Given the description of an element on the screen output the (x, y) to click on. 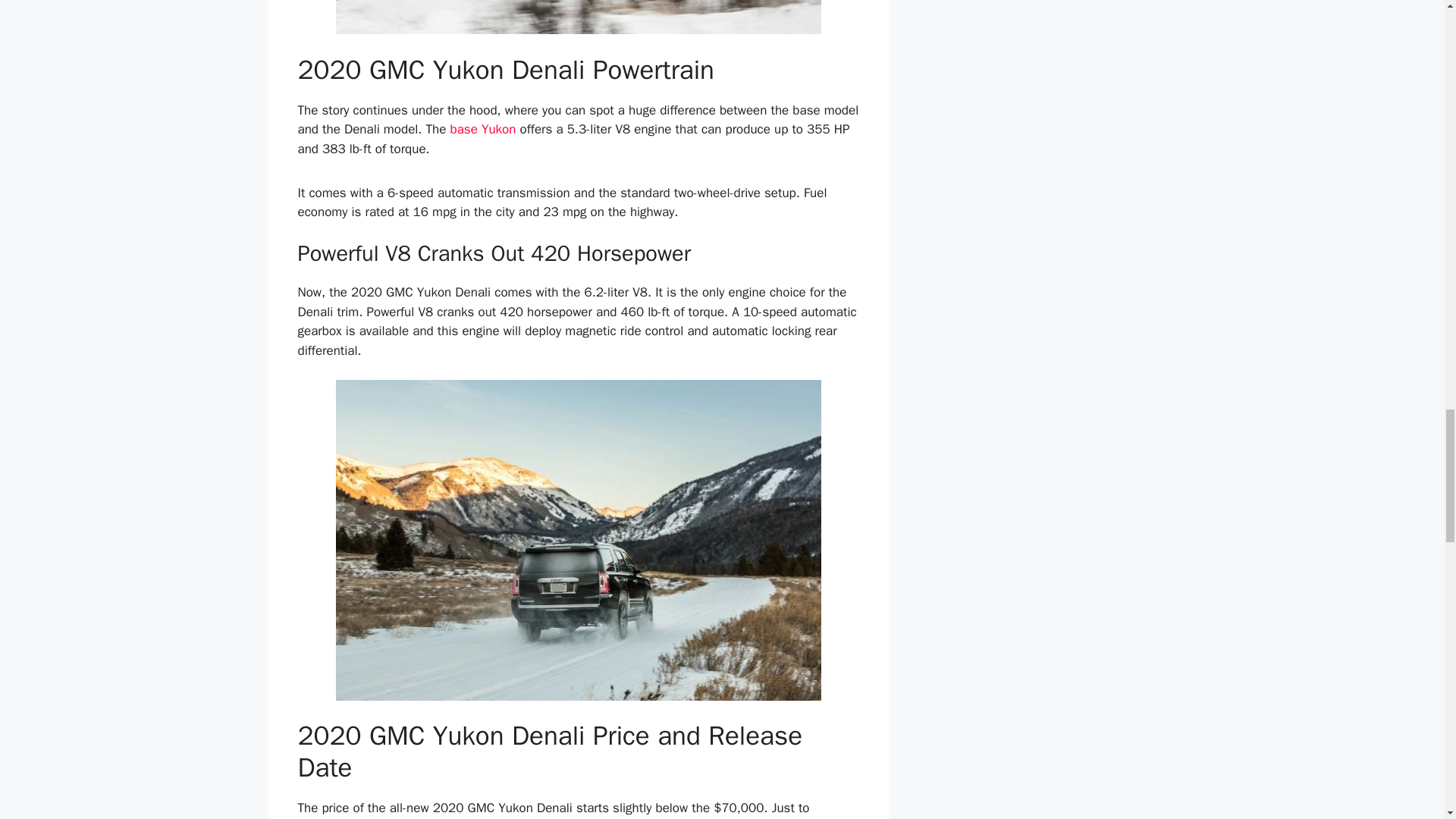
base Yukon (482, 129)
